Given the description of an element on the screen output the (x, y) to click on. 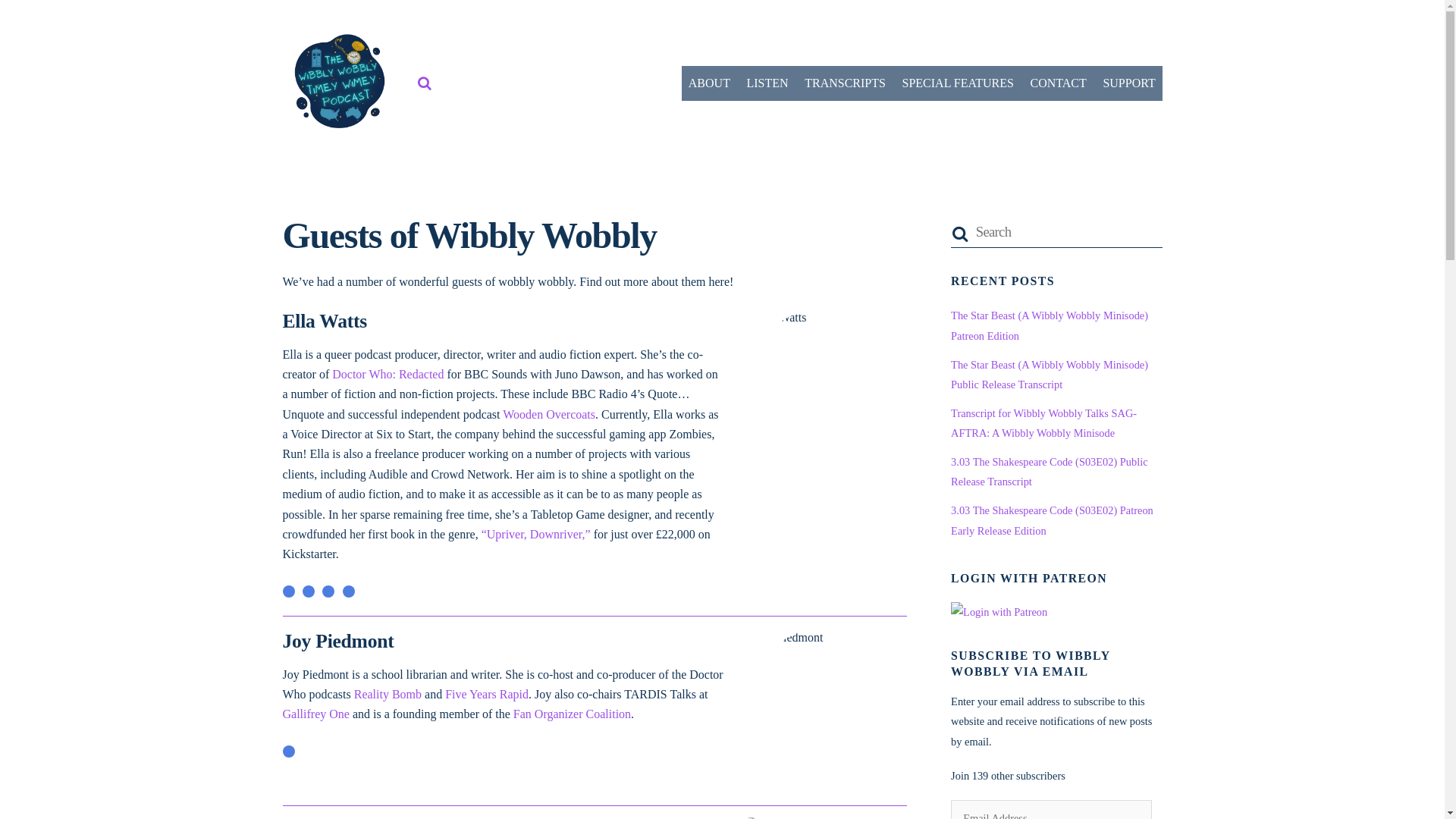
Doctor Who: Redacted (387, 373)
SUPPORT (1128, 83)
LISTEN (766, 83)
The Wibbly Wobbly Timey Wimey Podcast (339, 129)
Ella Watts (825, 388)
Search (424, 82)
ABOUT (708, 83)
CONTACT (1058, 83)
Wibbly Wobbly Logo (339, 80)
Wooden Overcoats (548, 413)
TRANSCRIPTS (844, 83)
Search (1055, 232)
Joy Piedmont (825, 709)
SPECIAL FEATURES (957, 83)
